Given the description of an element on the screen output the (x, y) to click on. 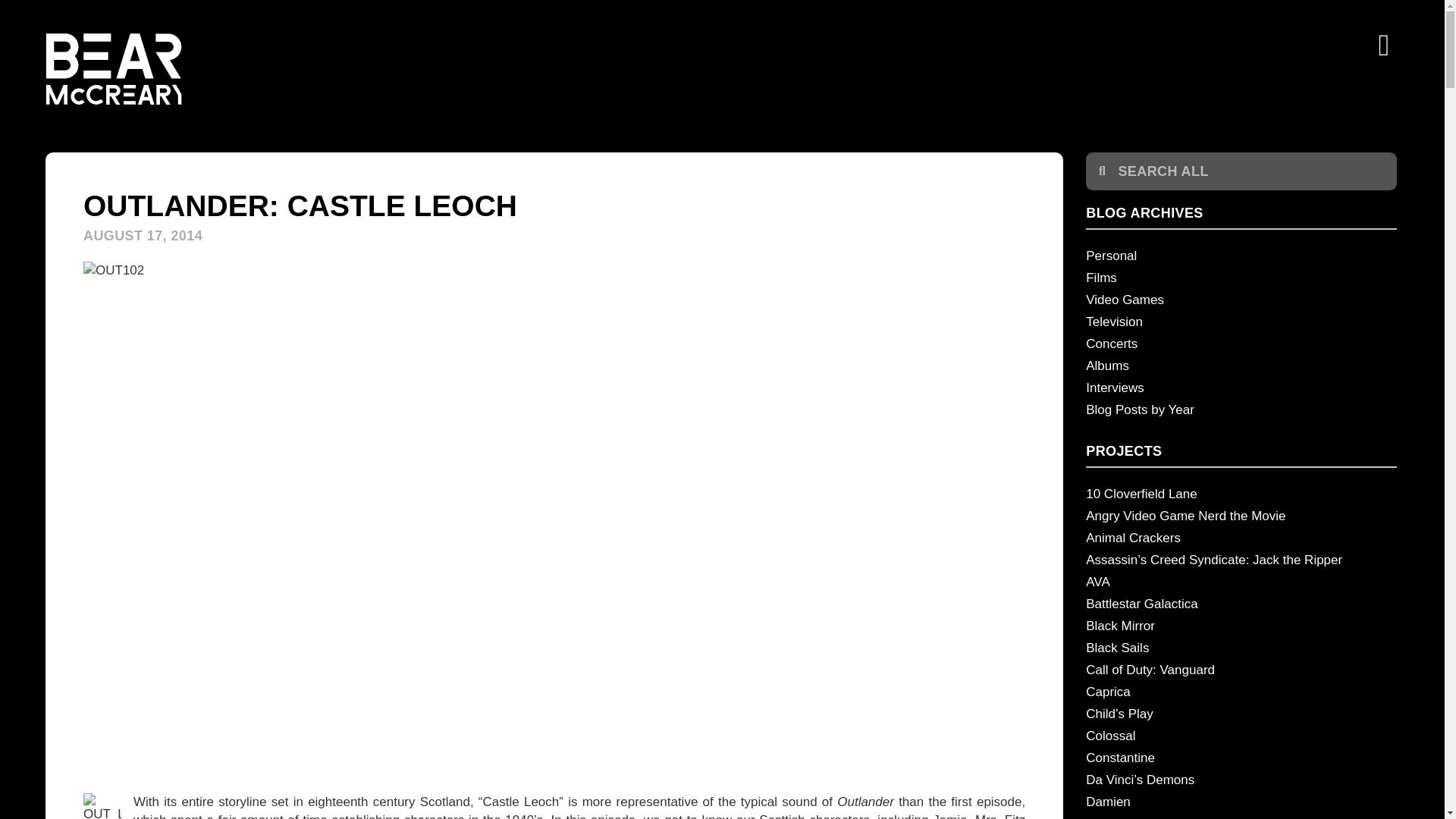
Battlestar Galactica (1241, 603)
Interviews (1241, 387)
Films (1241, 277)
Blog Posts by Year (1241, 409)
Television (1241, 321)
Personal (1241, 255)
Video Games (1241, 300)
OUTLANDER: CASTLE LEOCH (299, 205)
Animal Crackers (1241, 537)
10 Cloverfield Lane (1241, 494)
